Given the description of an element on the screen output the (x, y) to click on. 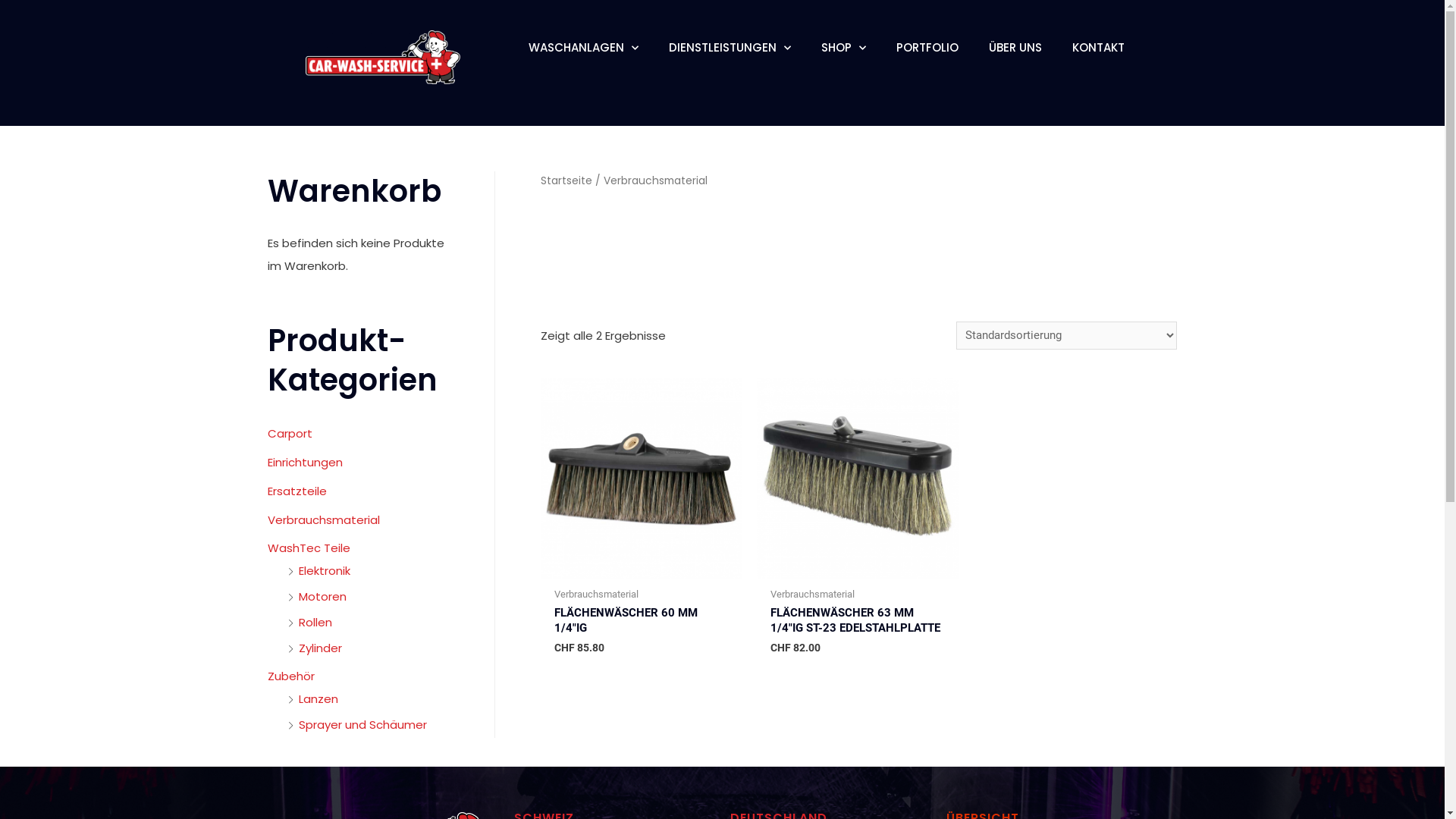
Startseite Element type: text (565, 180)
DIENSTLEISTUNGEN Element type: text (729, 47)
Elektronik Element type: text (324, 570)
Lanzen Element type: text (318, 698)
Zylinder Element type: text (320, 647)
PORTFOLIO Element type: text (927, 47)
WashTec Teile Element type: text (307, 547)
SHOP Element type: text (842, 47)
WASCHANLAGEN Element type: text (582, 47)
Ersatzteile Element type: text (296, 490)
Rollen Element type: text (315, 622)
Verbrauchsmaterial Element type: text (322, 519)
KONTAKT Element type: text (1098, 47)
Motoren Element type: text (322, 596)
Carport Element type: text (288, 433)
Einrichtungen Element type: text (304, 462)
